Given the description of an element on the screen output the (x, y) to click on. 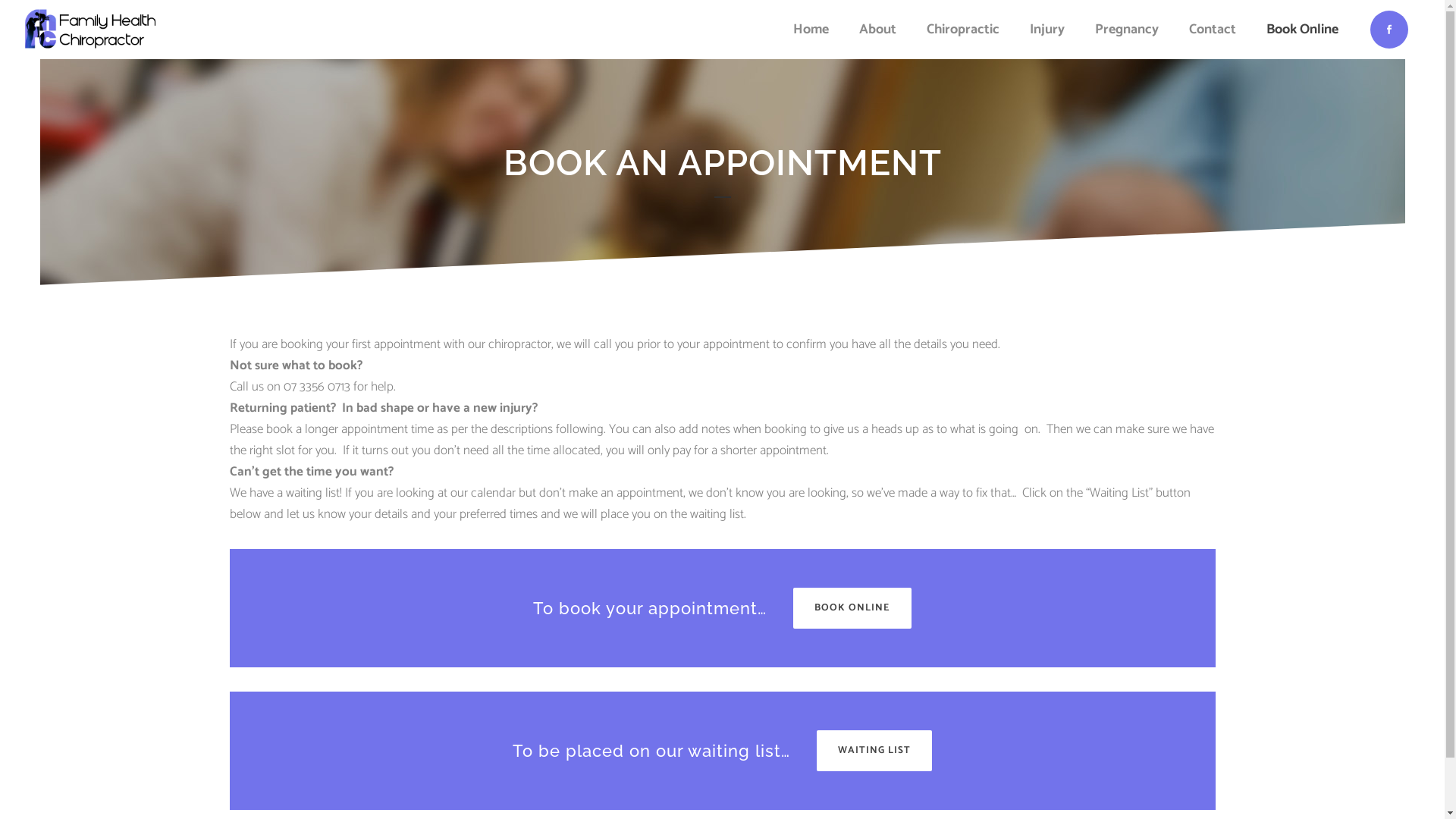
Book Online Element type: text (1302, 29)
About Element type: text (877, 29)
Chiropractic Element type: text (962, 29)
Home Element type: text (811, 29)
WAITING LIST Element type: text (873, 750)
Pregnancy Element type: text (1126, 29)
Contact Element type: text (1212, 29)
Injury Element type: text (1046, 29)
BOOK ONLINE Element type: text (852, 607)
